Given the description of an element on the screen output the (x, y) to click on. 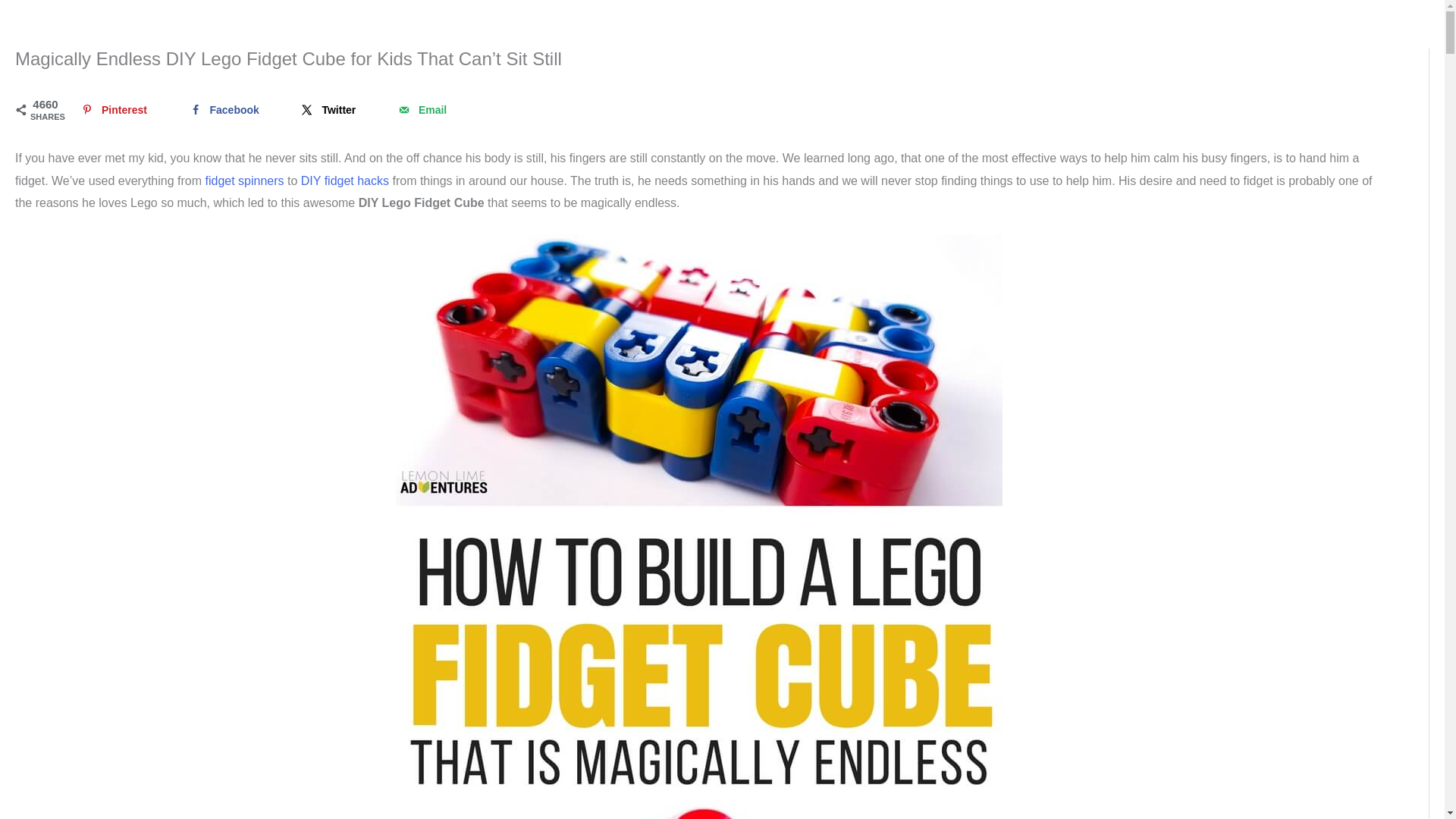
Twitter (327, 110)
Email (420, 110)
Facebook (223, 110)
Send over email (420, 110)
Share on X (327, 110)
DIY fidget hacks (344, 180)
Pinterest (112, 110)
fidget spinners (244, 180)
Share on Facebook (223, 110)
Save to Pinterest (112, 110)
